Given the description of an element on the screen output the (x, y) to click on. 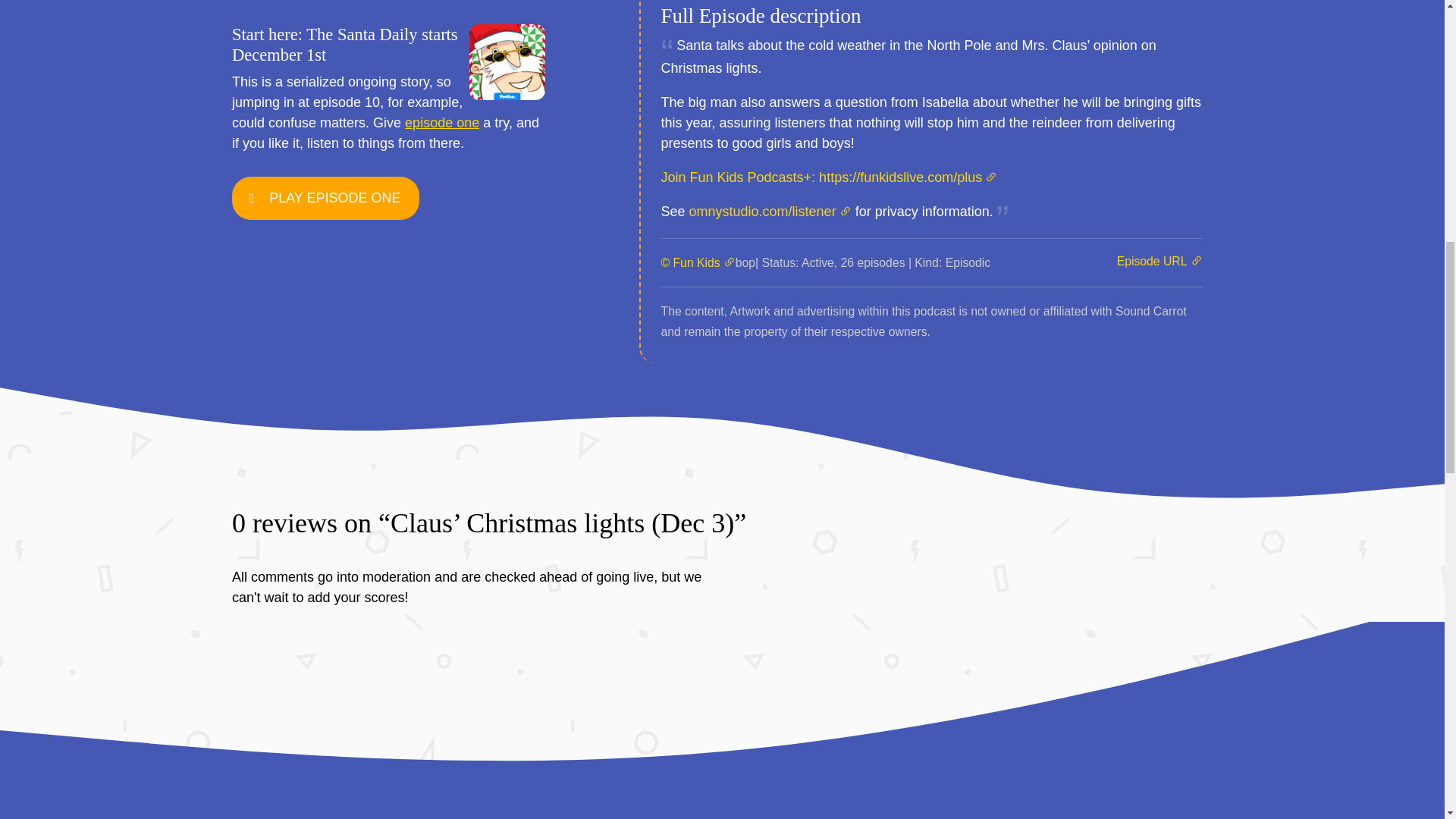
PLAY EPISODE ONE (334, 197)
Episode one: The Santa Daily starts December 1st (441, 122)
episode one (441, 122)
Episode URL (1159, 260)
Visit the Fun Kids website (698, 262)
